Given the description of an element on the screen output the (x, y) to click on. 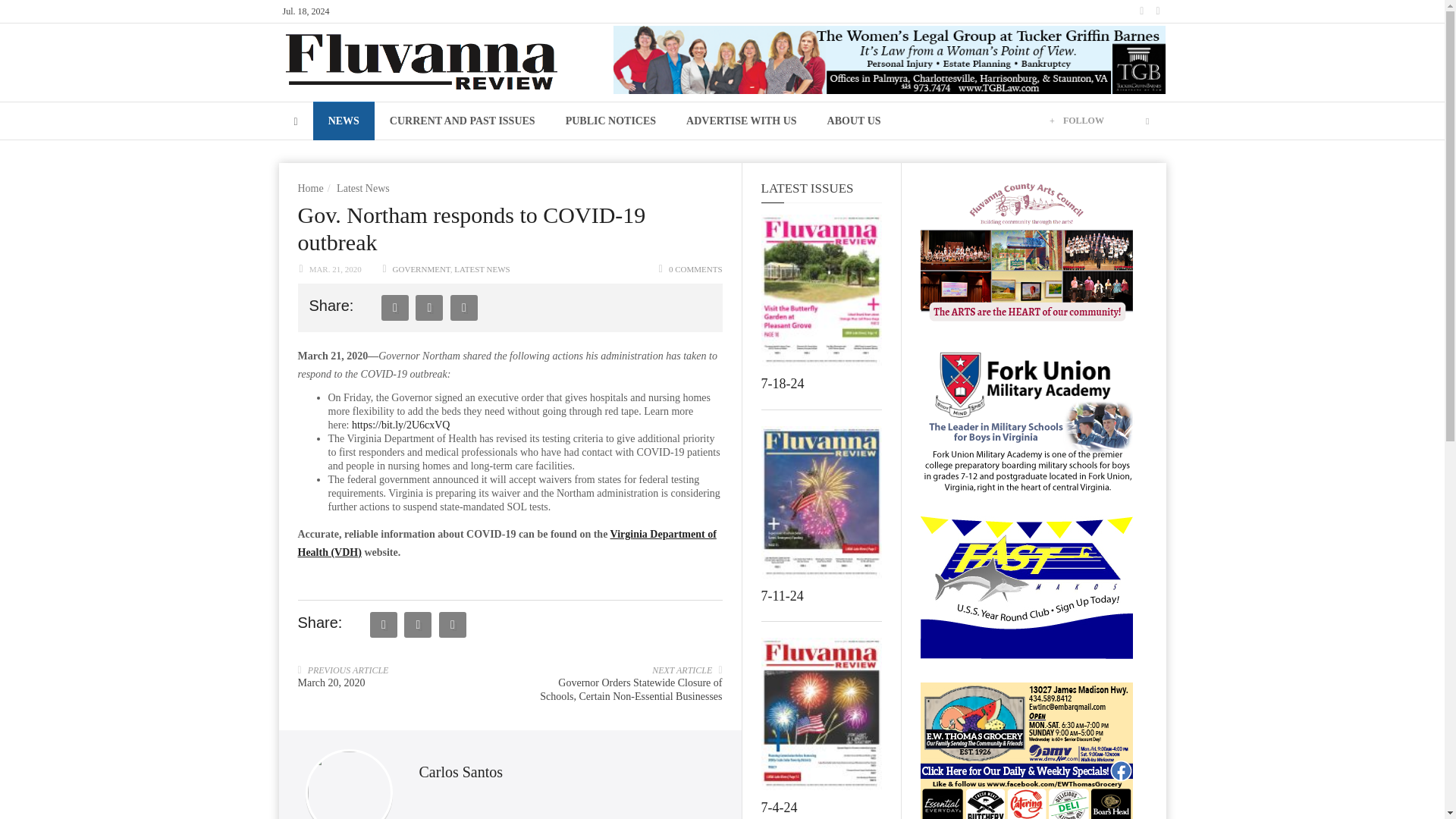
Posts by Carlos Santos (460, 771)
View all posts in Government (421, 268)
Latest News (363, 188)
March 20, 2020 (331, 682)
NEWS (343, 120)
View all posts in Latest News (481, 268)
